Given the description of an element on the screen output the (x, y) to click on. 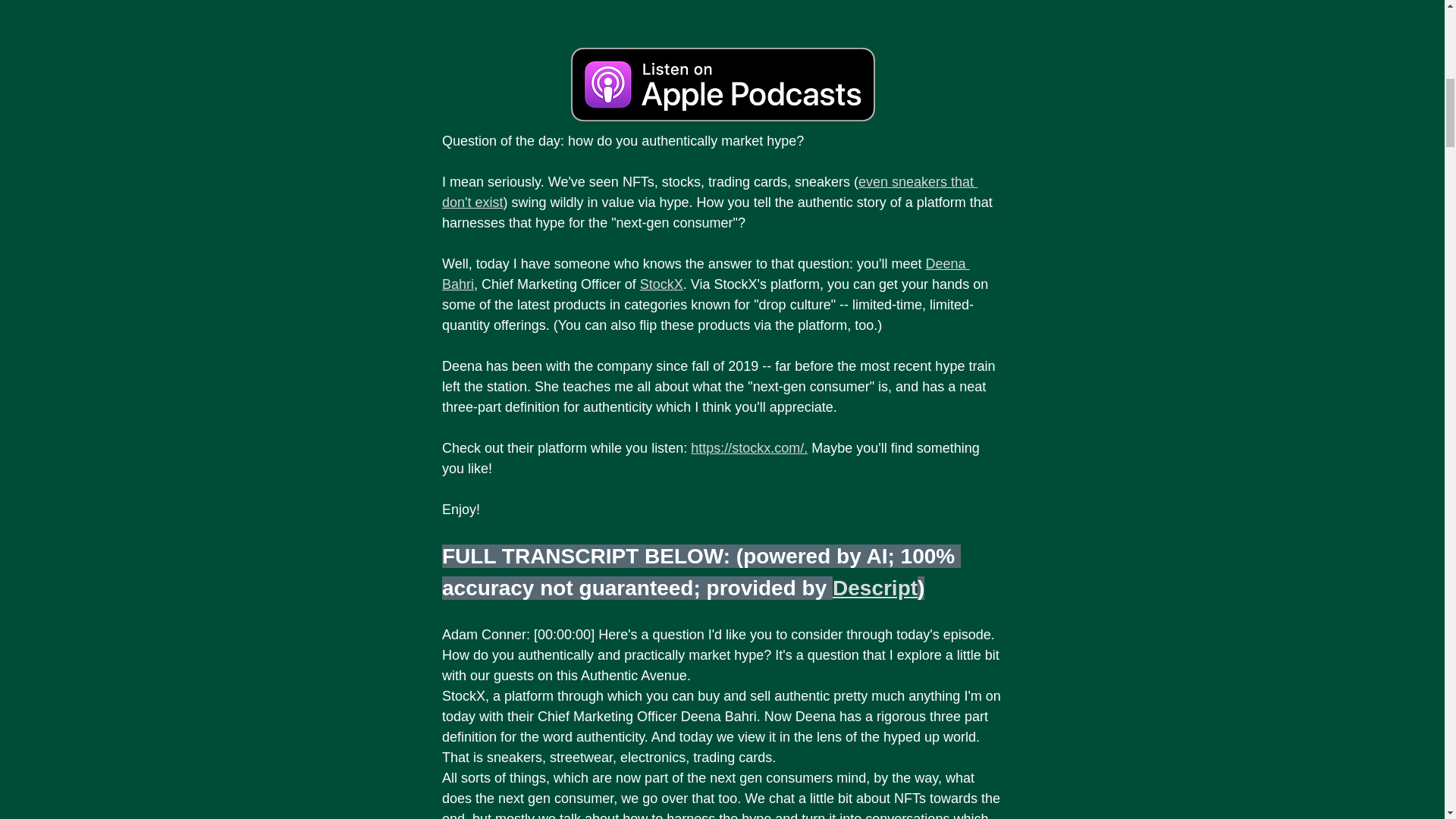
even sneakers that don't exist (708, 191)
StockX (660, 283)
Descript (874, 587)
Deena Bahri (705, 273)
